Given the description of an element on the screen output the (x, y) to click on. 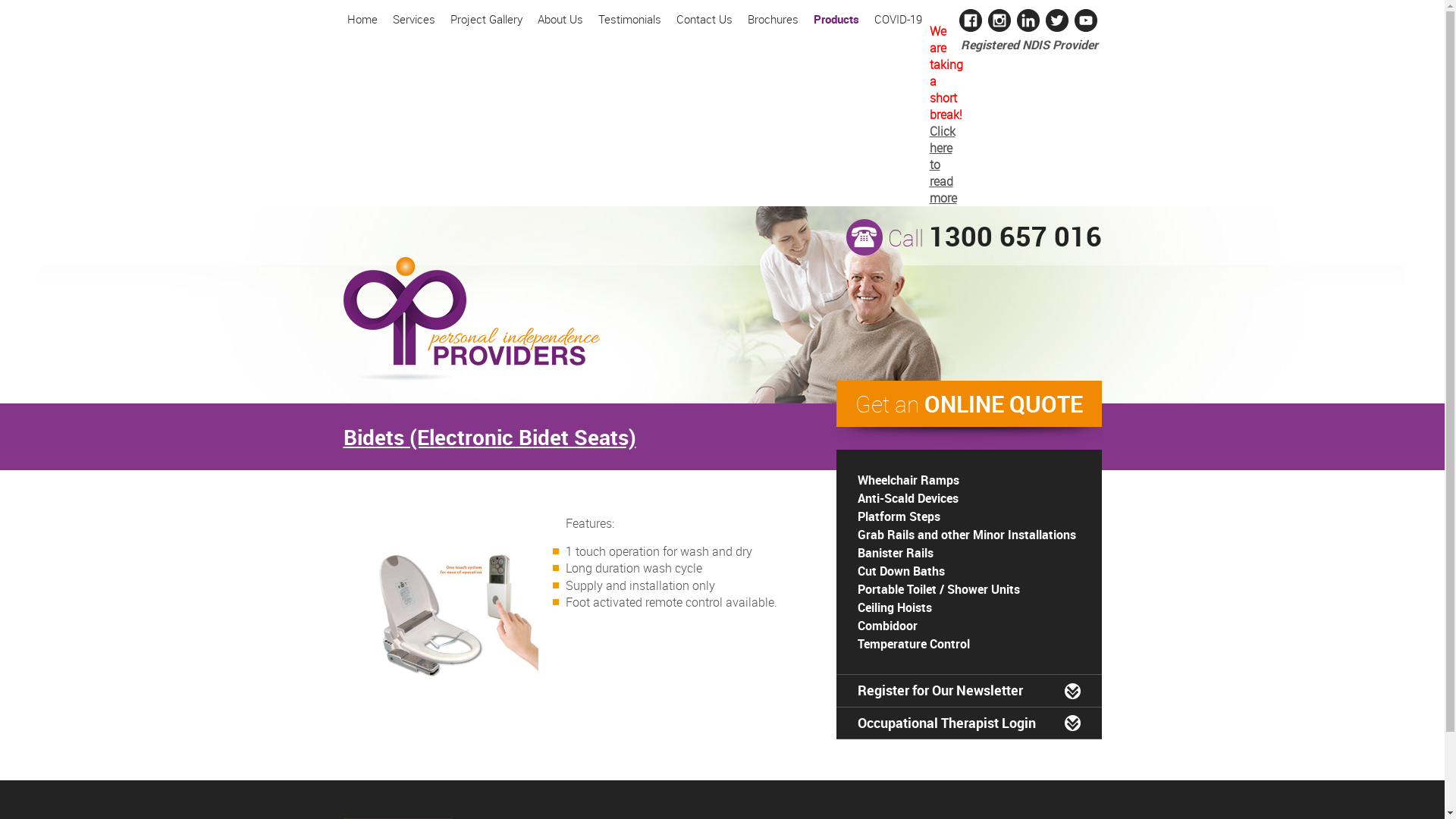
Get an ONLINE QUOTE Element type: text (968, 403)
Cut Down Baths Element type: text (900, 570)
Click here to read more Element type: text (941, 164)
Bidets (Electronic Bidet Seats) Element type: text (488, 436)
Ceiling Hoists Element type: text (893, 607)
Products Element type: text (835, 18)
Anti-Scald Devices Element type: text (906, 497)
Contact Us Element type: text (704, 18)
Temperature Control Element type: text (912, 643)
Call 1300 657 016 Element type: text (994, 237)
Testimonials Element type: text (628, 18)
Combidoor Element type: text (886, 625)
Banister Rails Element type: text (894, 552)
Facebook Element type: hover (969, 27)
YouTube Element type: hover (1085, 27)
Project Gallery Element type: text (486, 18)
Wheelchair Ramps Element type: text (907, 479)
About Us Element type: text (559, 18)
Brochures Element type: text (773, 18)
COVID-19 Element type: text (897, 18)
Platform Steps Element type: text (897, 516)
Instagram Element type: hover (998, 27)
LinkedIn Element type: hover (1027, 27)
Home Element type: text (362, 18)
Grab Rails and other Minor Installations Element type: text (965, 534)
Portable Toilet / Shower Units Element type: text (937, 588)
Twitter Element type: hover (1056, 27)
Services Element type: text (413, 18)
